Given the description of an element on the screen output the (x, y) to click on. 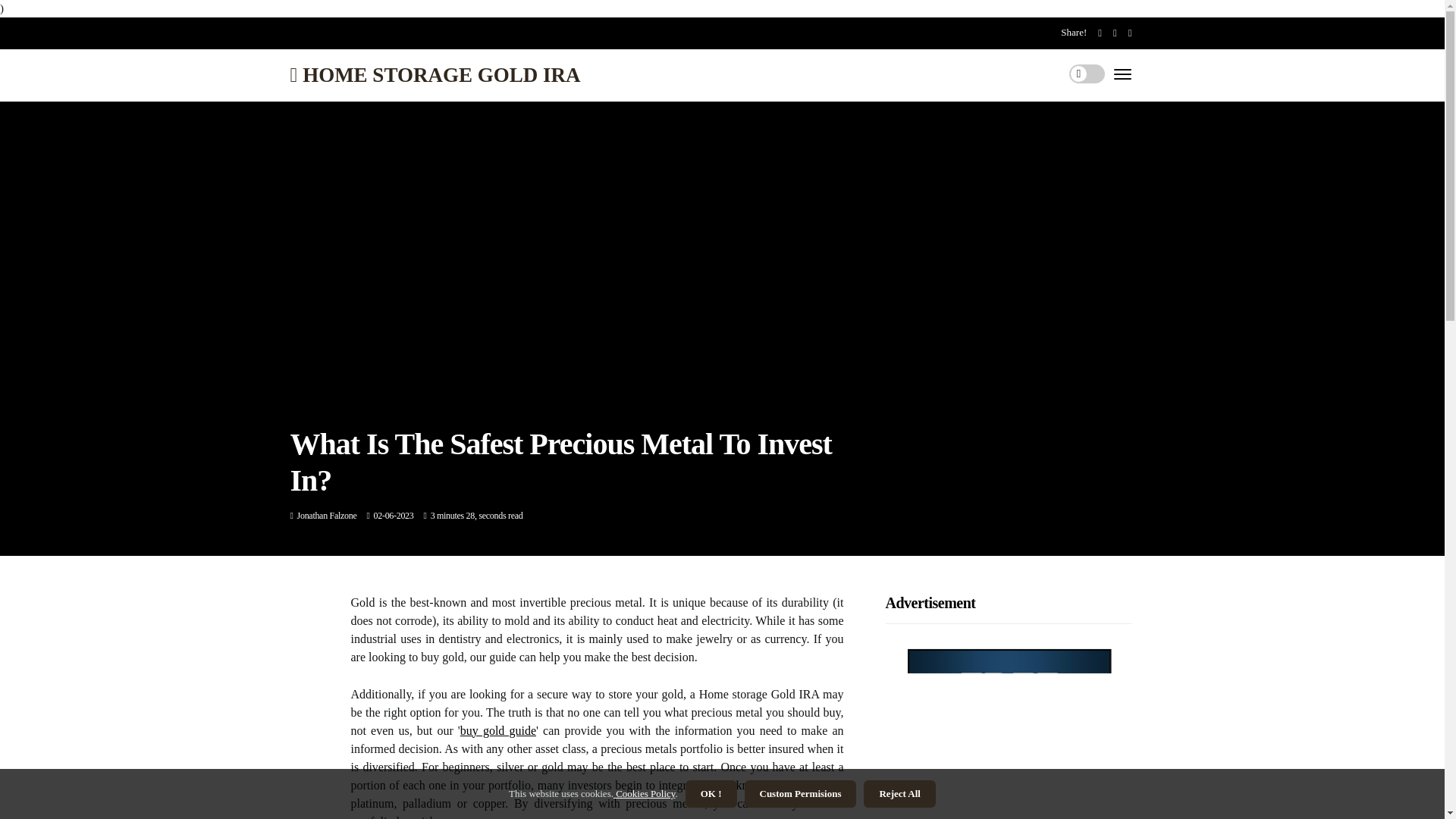
buy gold guide (497, 729)
HOME STORAGE GOLD IRA (434, 75)
Posts by Jonathan Falzone (326, 515)
Jonathan Falzone (326, 515)
